Given the description of an element on the screen output the (x, y) to click on. 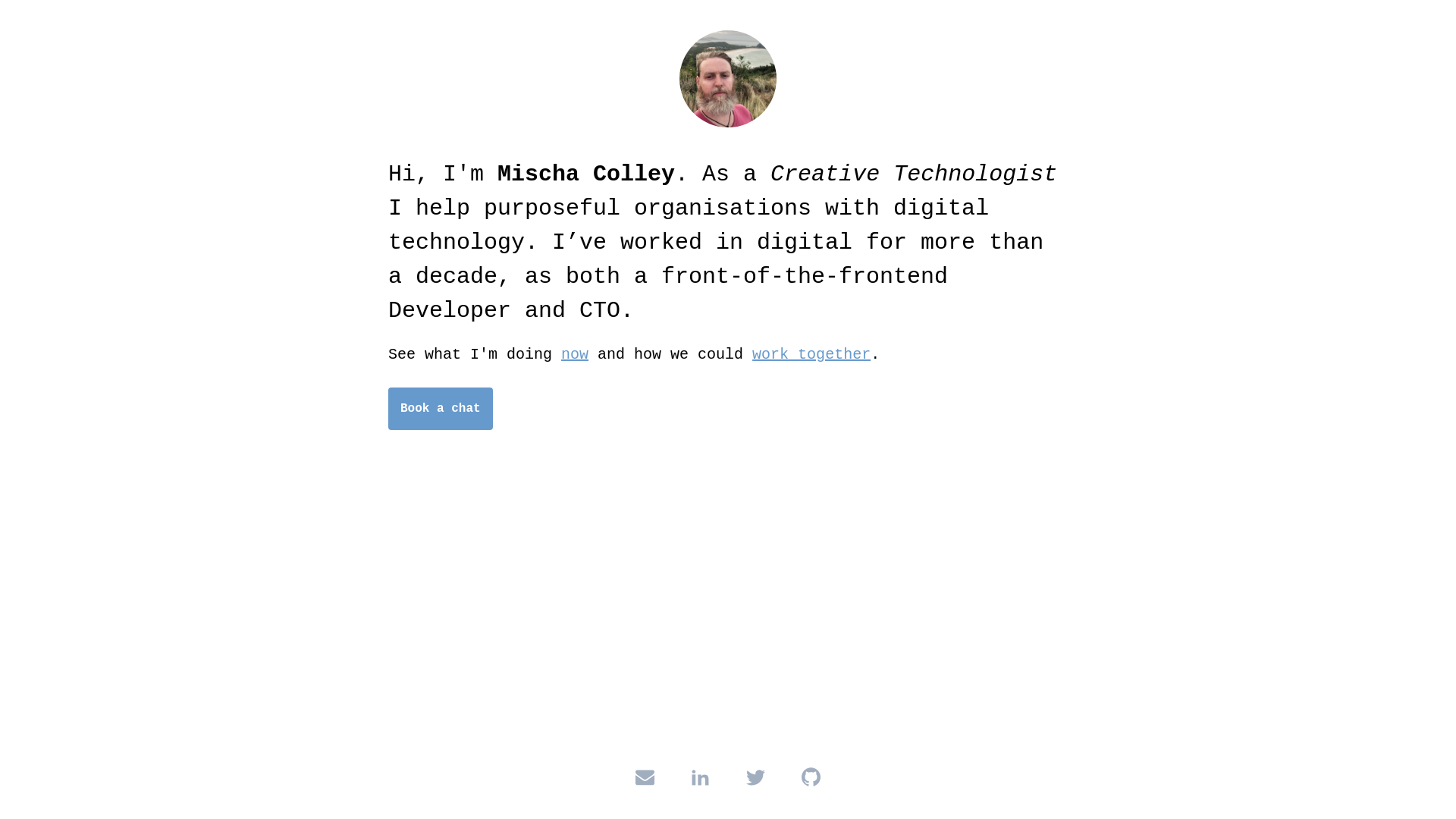
work together Element type: text (811, 354)
Book a chat Element type: text (440, 408)
now Element type: text (574, 354)
